Given the description of an element on the screen output the (x, y) to click on. 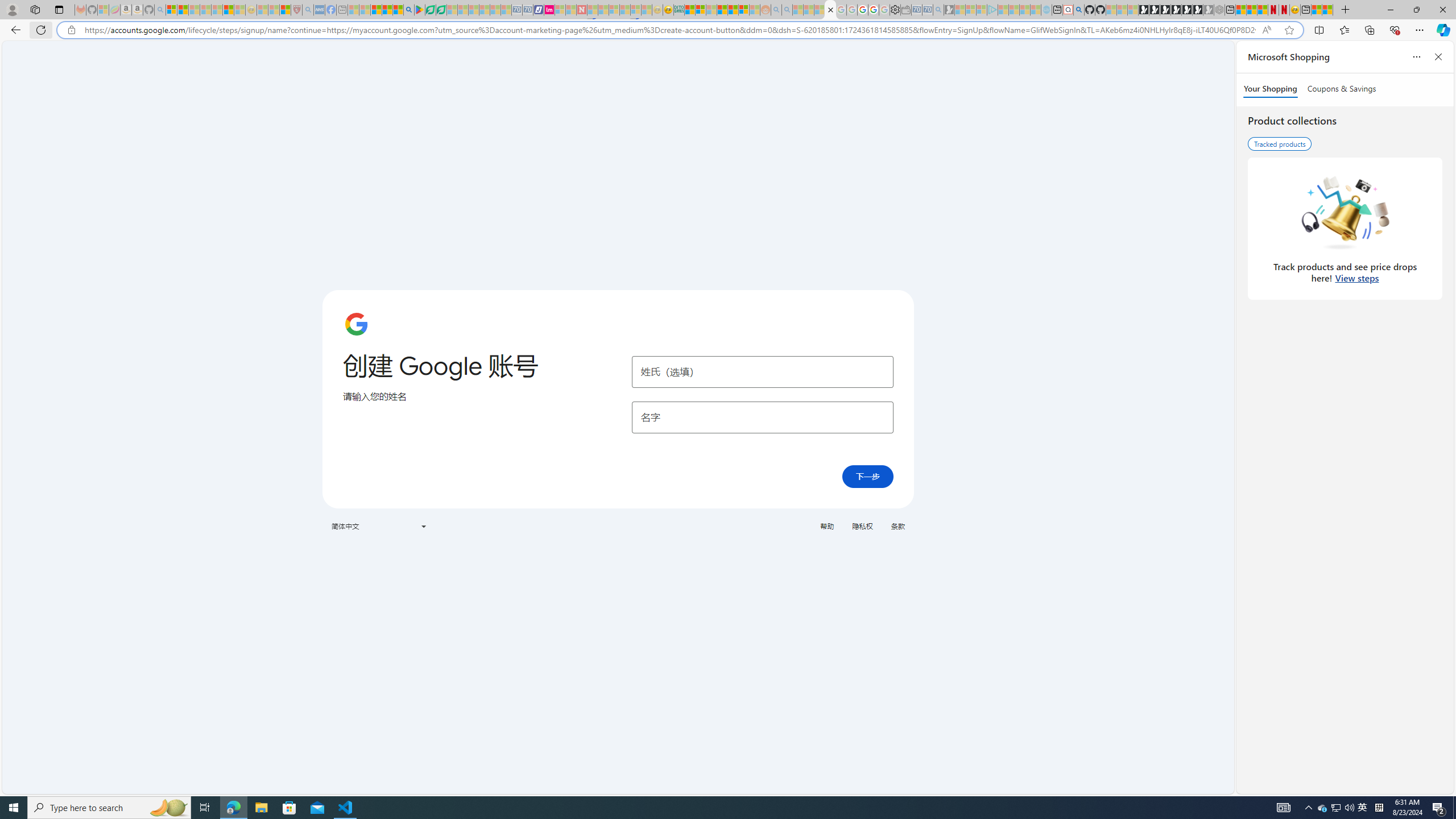
Jobs - lastminute.com Investor Portal (548, 9)
Robert H. Shmerling, MD - Harvard Health - Sleeping (296, 9)
Cheap Car Rentals - Save70.com - Sleeping (927, 9)
Pets - MSN (387, 9)
